Given the description of an element on the screen output the (x, y) to click on. 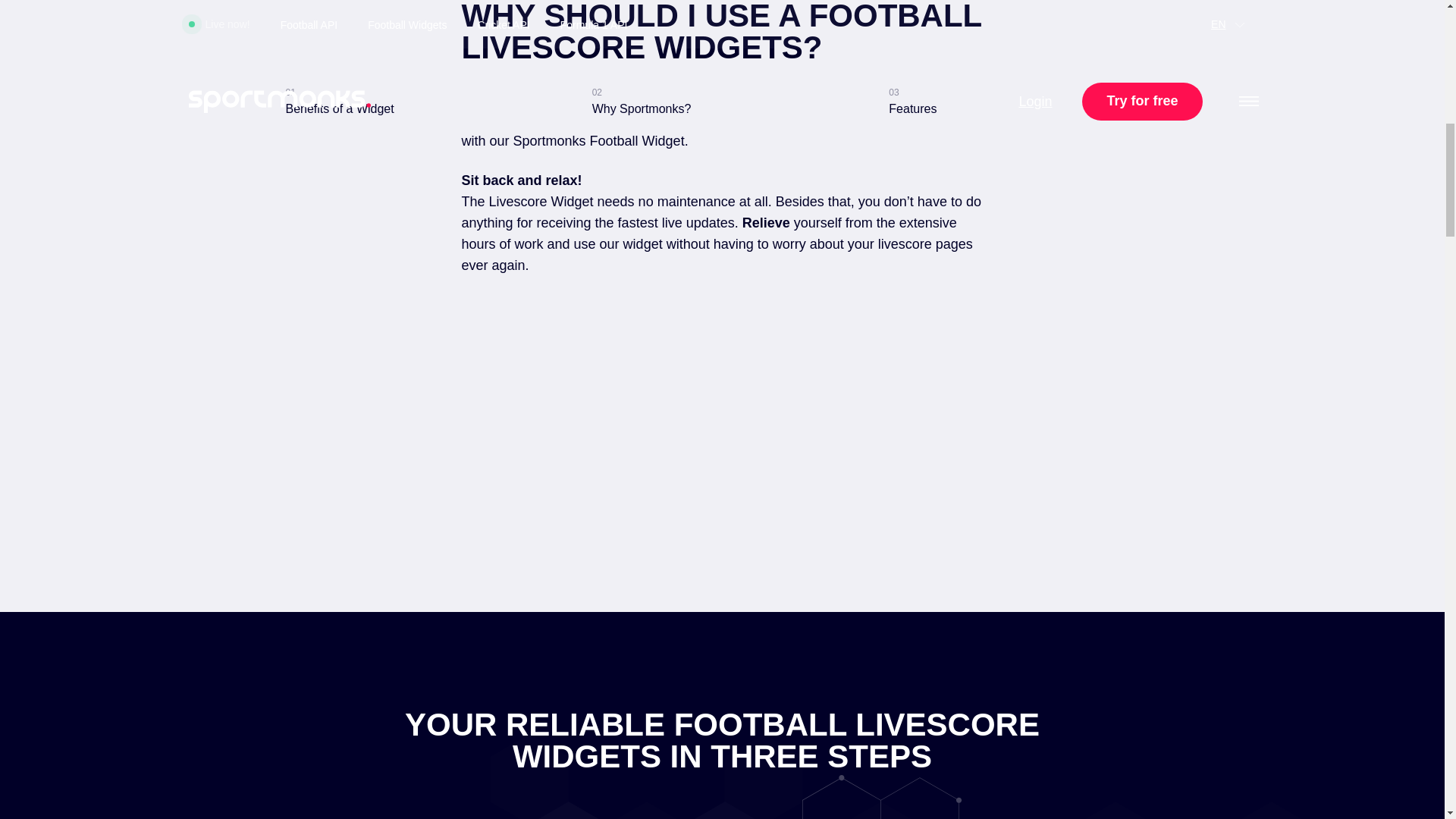
YouTube video player (721, 413)
